Given the description of an element on the screen output the (x, y) to click on. 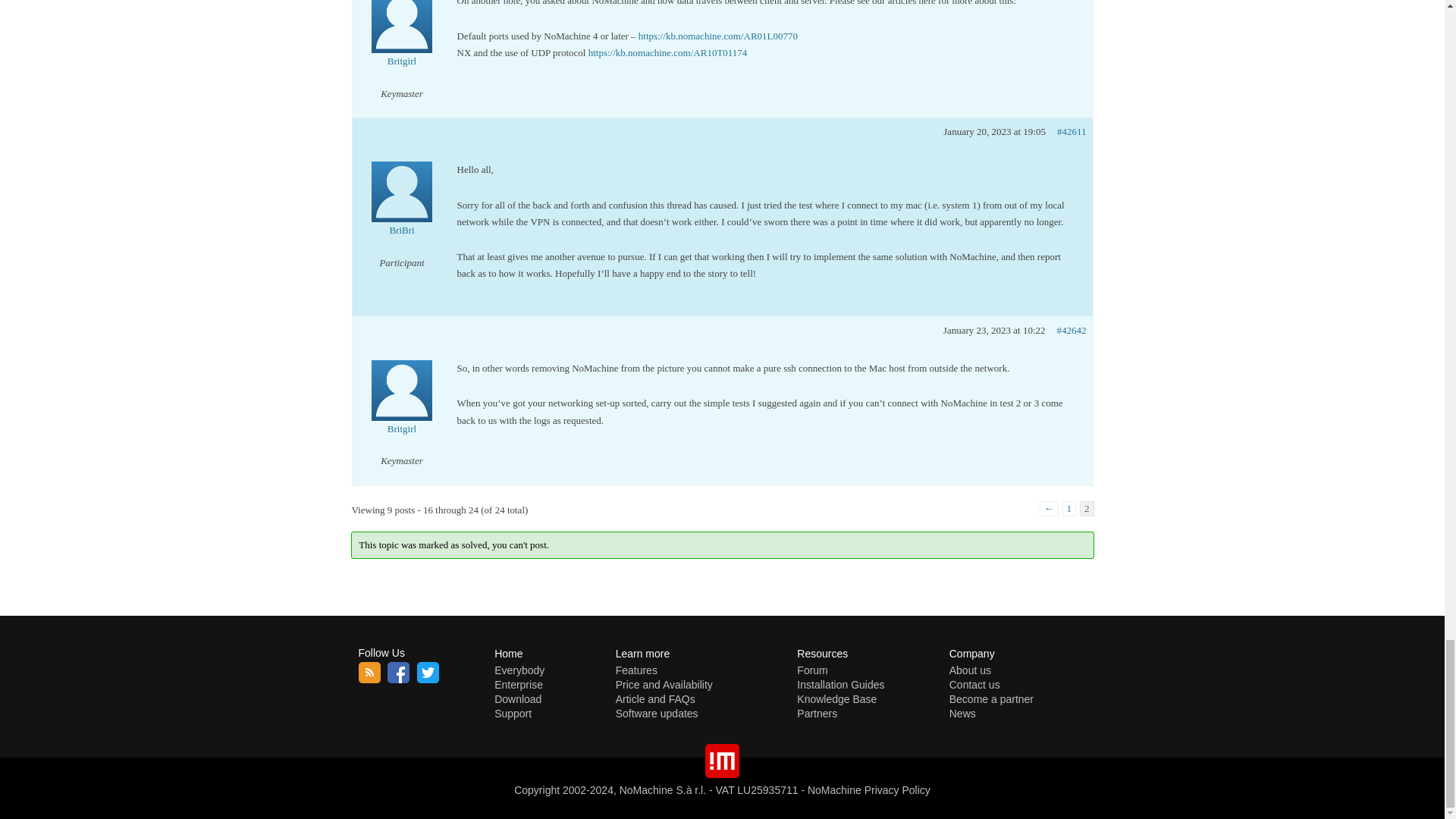
View Britgirl's profile (401, 408)
View BriBri's profile (401, 209)
View Britgirl's profile (401, 40)
